Given the description of an element on the screen output the (x, y) to click on. 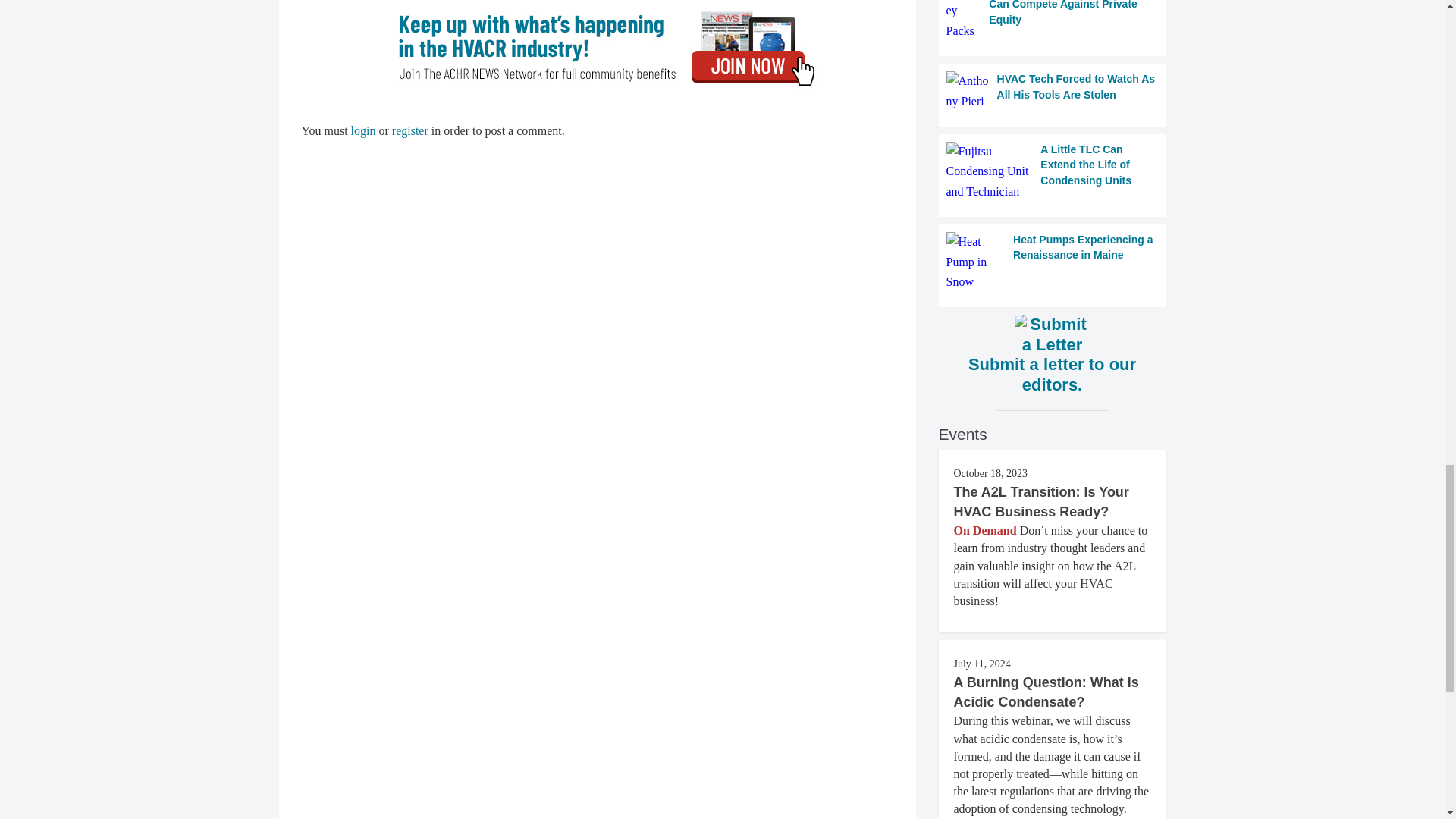
Heat Pumps Experiencing a Renaissance in Maine (1052, 261)
A Burning Question: What is Acidic Condensate? (1045, 692)
A Little TLC Can Extend the Life of Condensing Units (1052, 171)
The A2L Transition: Is Your HVAC Business Ready? (1041, 501)
HVAC Tech Forced to Watch As All His Tools Are Stolen (1052, 91)
